Given the description of an element on the screen output the (x, y) to click on. 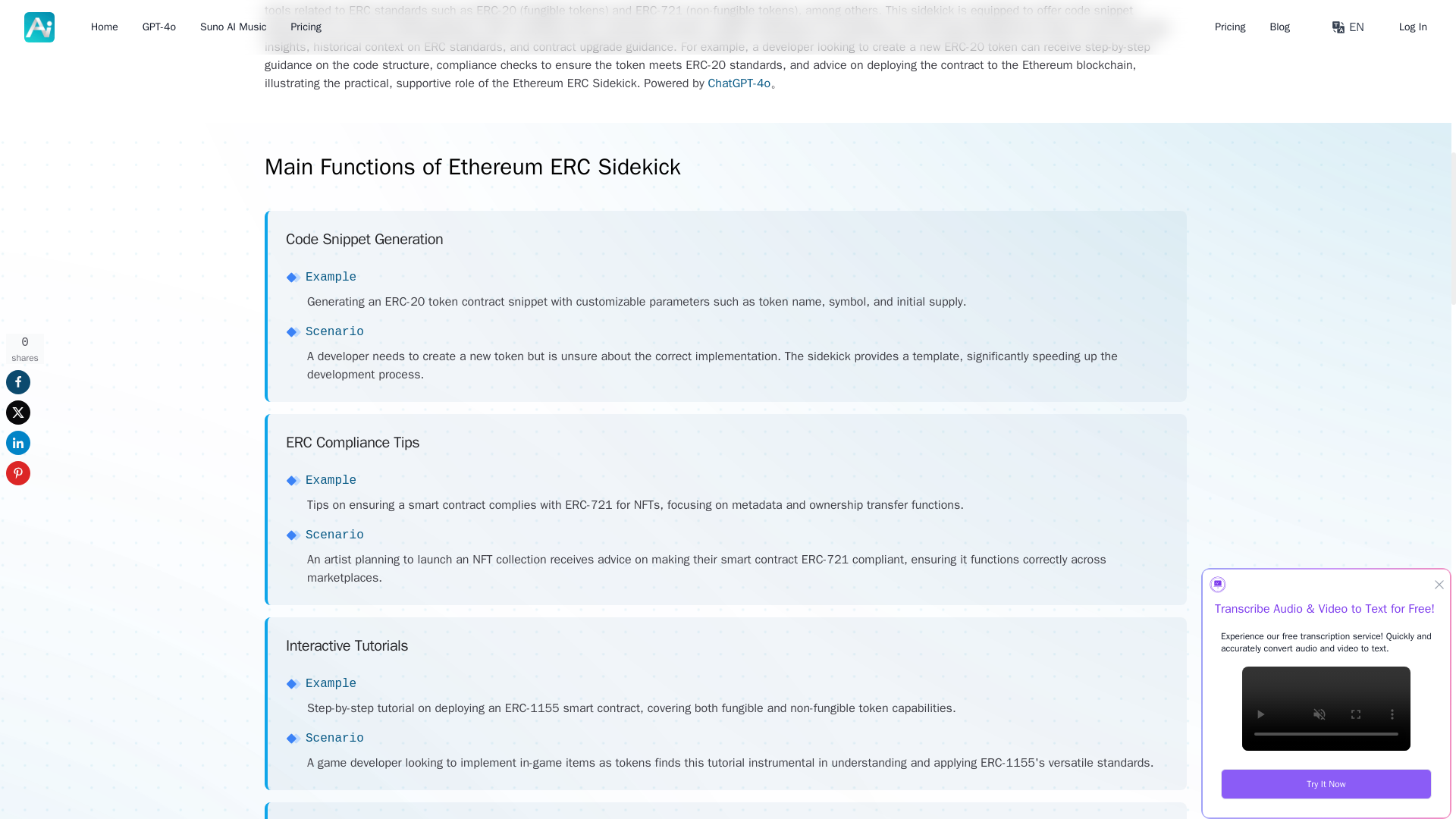
ChatGPT-4o (737, 83)
